Given the description of an element on the screen output the (x, y) to click on. 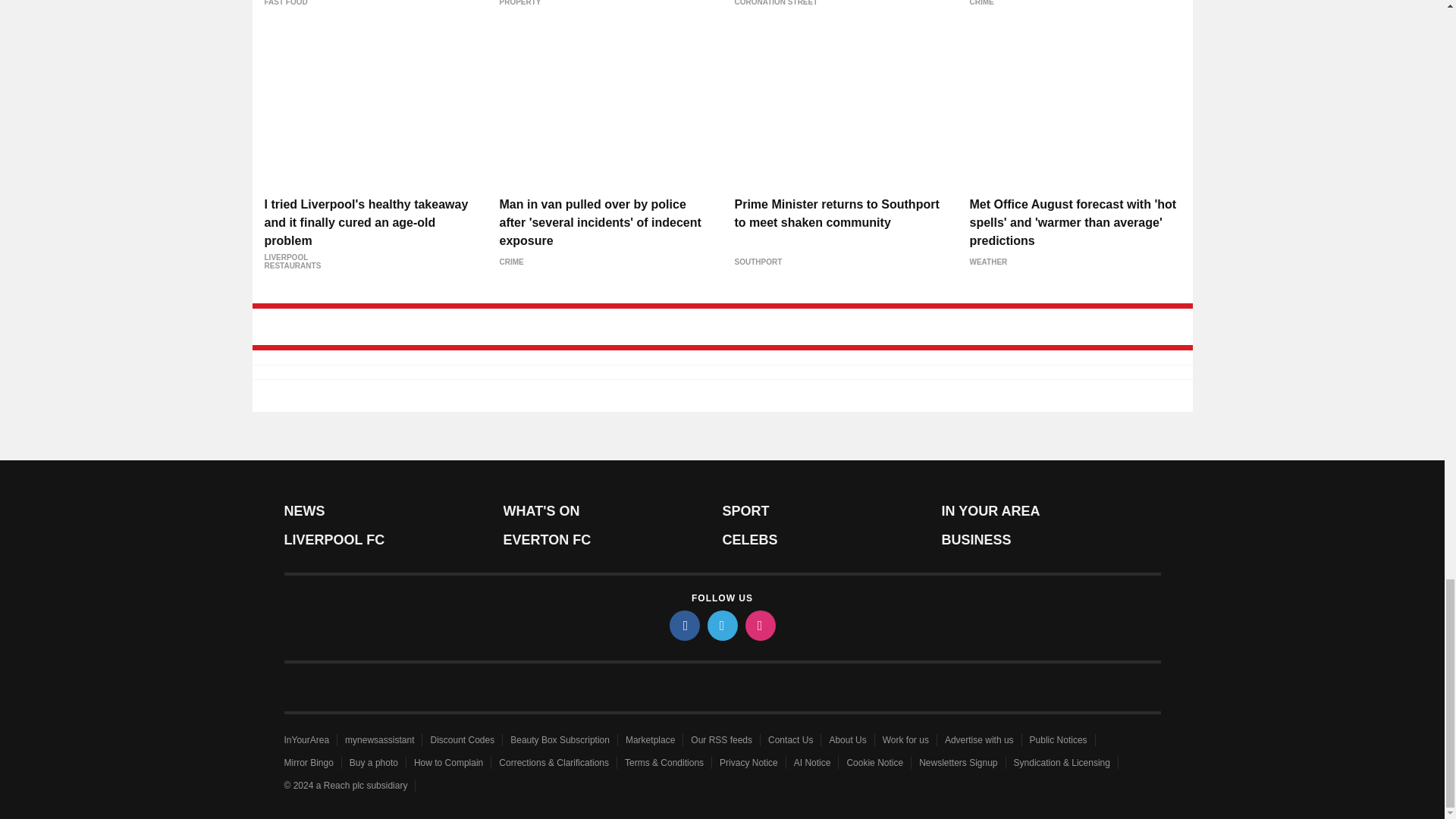
facebook (683, 625)
instagram (759, 625)
twitter (721, 625)
